Given the description of an element on the screen output the (x, y) to click on. 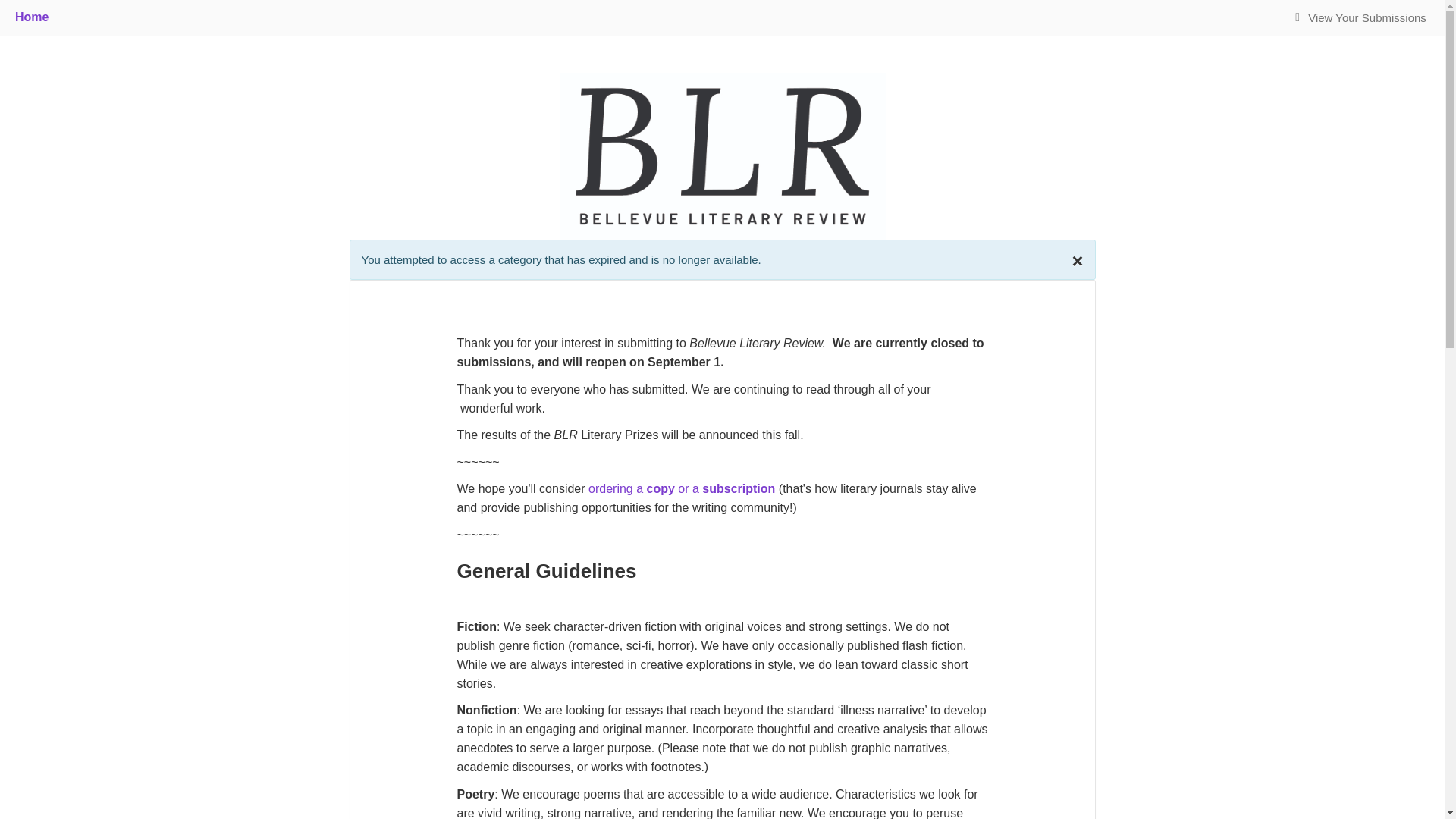
Bellevue Literary Review (722, 154)
View Your Submissions (1366, 17)
ordering a copy or a subscription (681, 488)
Home (31, 16)
